Given the description of an element on the screen output the (x, y) to click on. 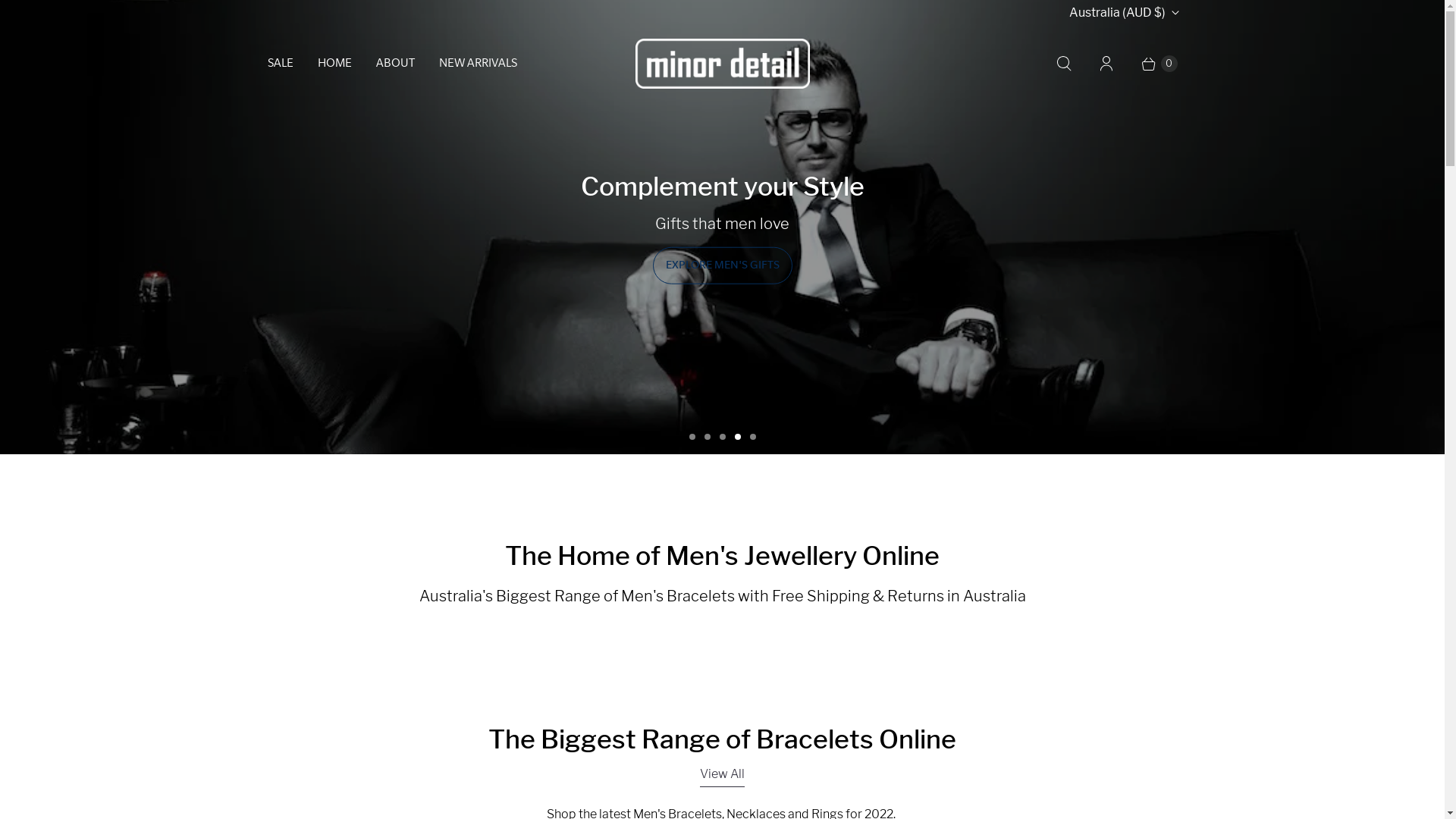
0 Element type: text (1151, 63)
Slide 5 Element type: text (752, 436)
Slide 2 Element type: text (706, 436)
Australia (AUD $) Element type: text (1123, 12)
HOME Element type: text (333, 63)
SALE Element type: text (279, 63)
View All Element type: text (721, 776)
ABOUT Element type: text (395, 63)
Slide 3 Element type: text (721, 436)
NEW ARRIVALS Element type: text (477, 63)
Slide 1 Element type: text (691, 436)
The Biggest Range of Bracelets Online Element type: text (722, 738)
Slide 4 Element type: text (737, 436)
